Given the description of an element on the screen output the (x, y) to click on. 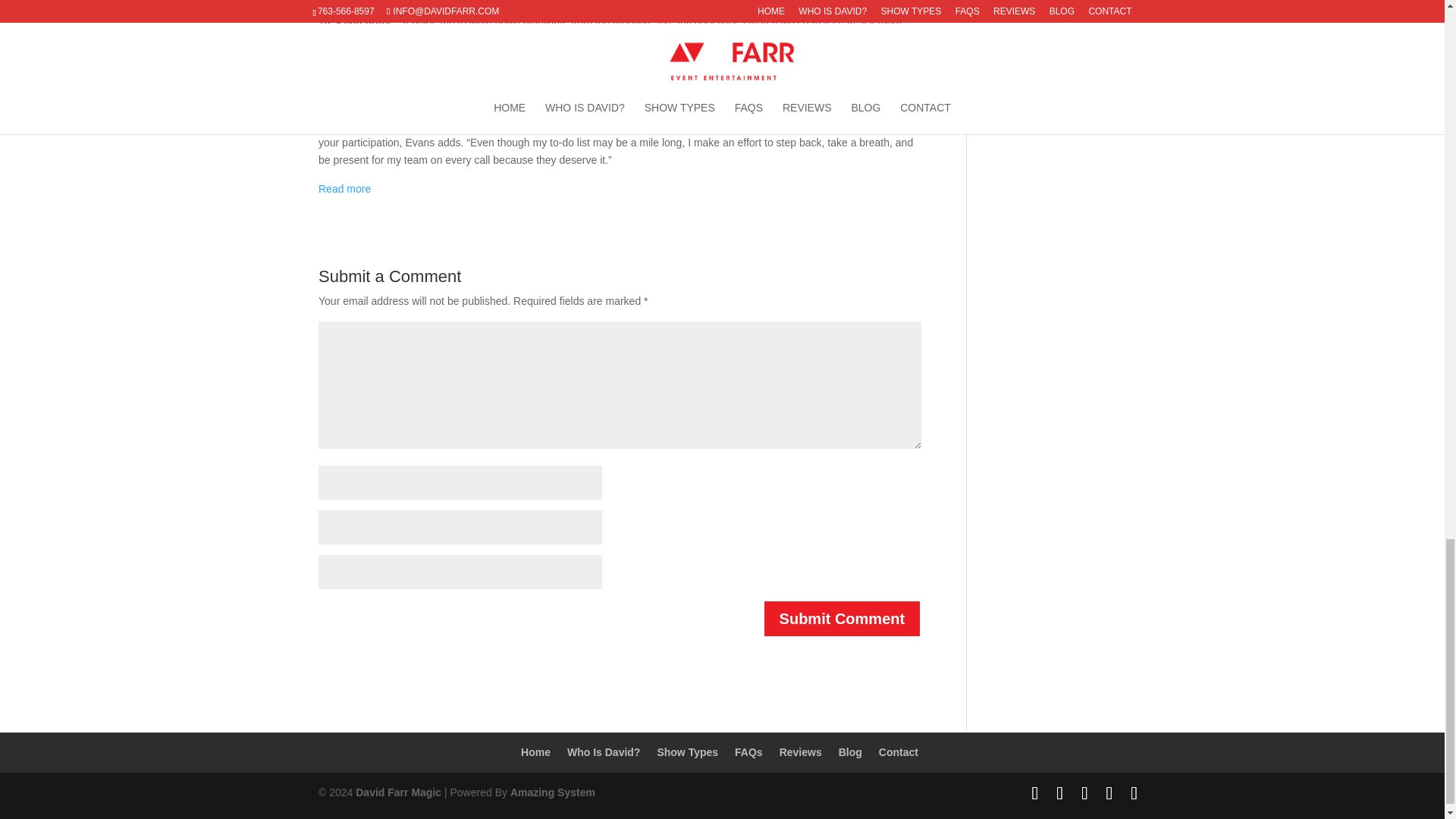
Home (535, 752)
Read more (344, 188)
Submit Comment (841, 618)
Submit Comment (841, 618)
